Given the description of an element on the screen output the (x, y) to click on. 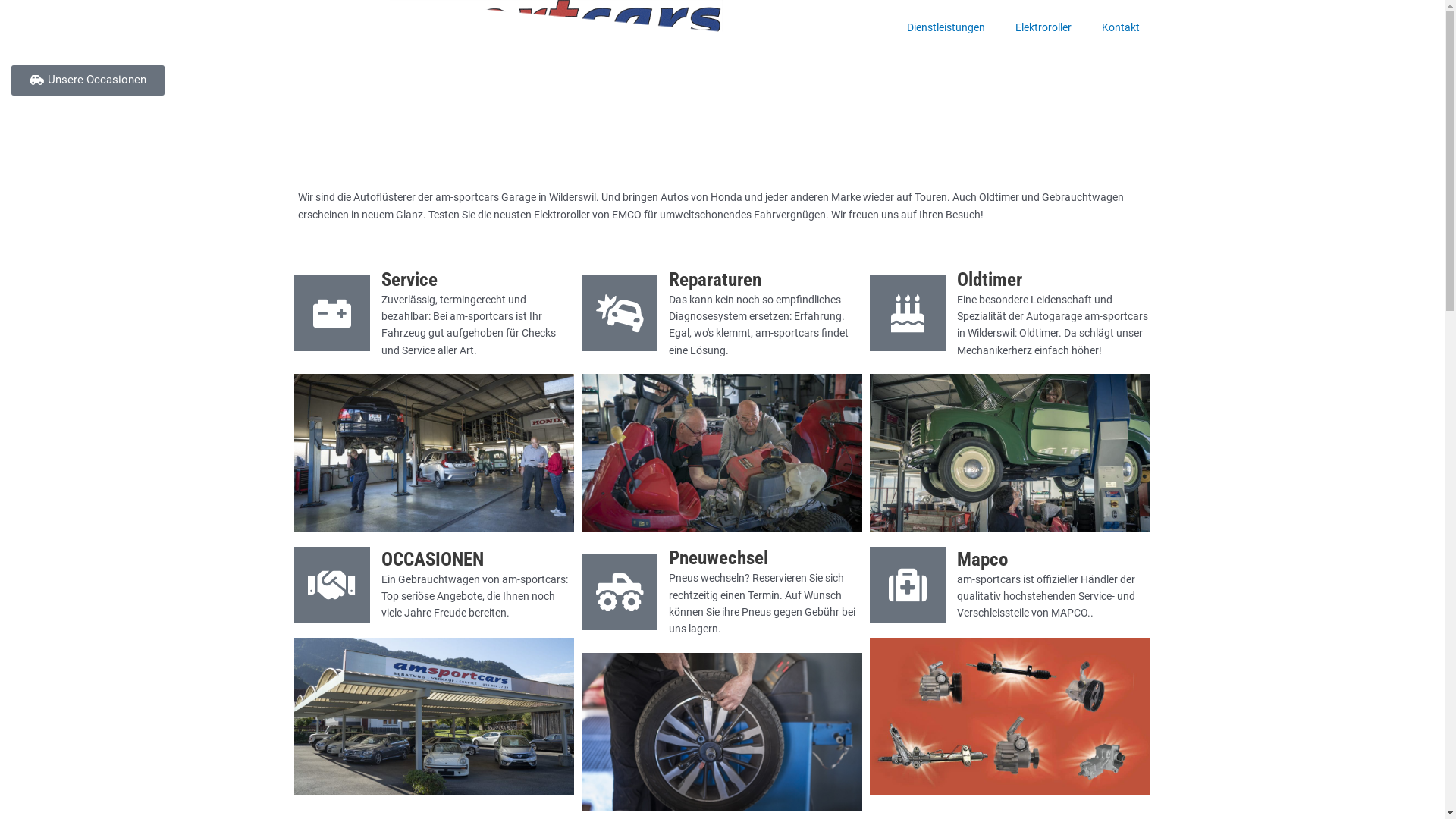
OCCASIONEN Element type: text (431, 559)
Kontakt Element type: text (1119, 26)
Elektroroller Element type: text (1042, 26)
Unsere Occasionen Element type: text (87, 80)
Dienstleistungen Element type: text (945, 26)
